Given the description of an element on the screen output the (x, y) to click on. 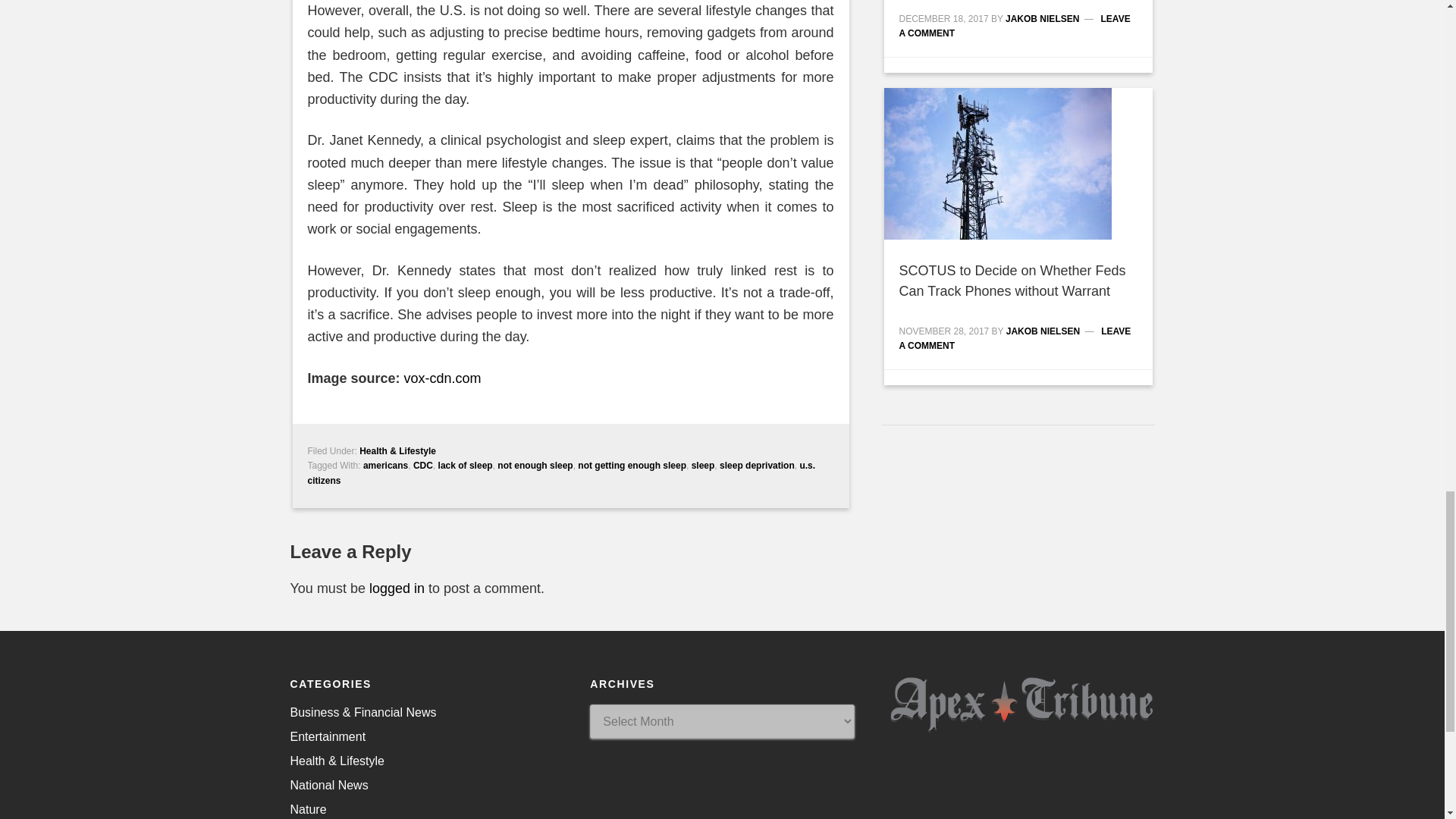
sleep deprivation (756, 465)
vox-cdn.com (442, 378)
not getting enough sleep (631, 465)
logged in (397, 588)
CDC (422, 465)
lack of sleep (465, 465)
sleep (702, 465)
not enough sleep (534, 465)
americans (384, 465)
u.s. citizens (561, 473)
